Given the description of an element on the screen output the (x, y) to click on. 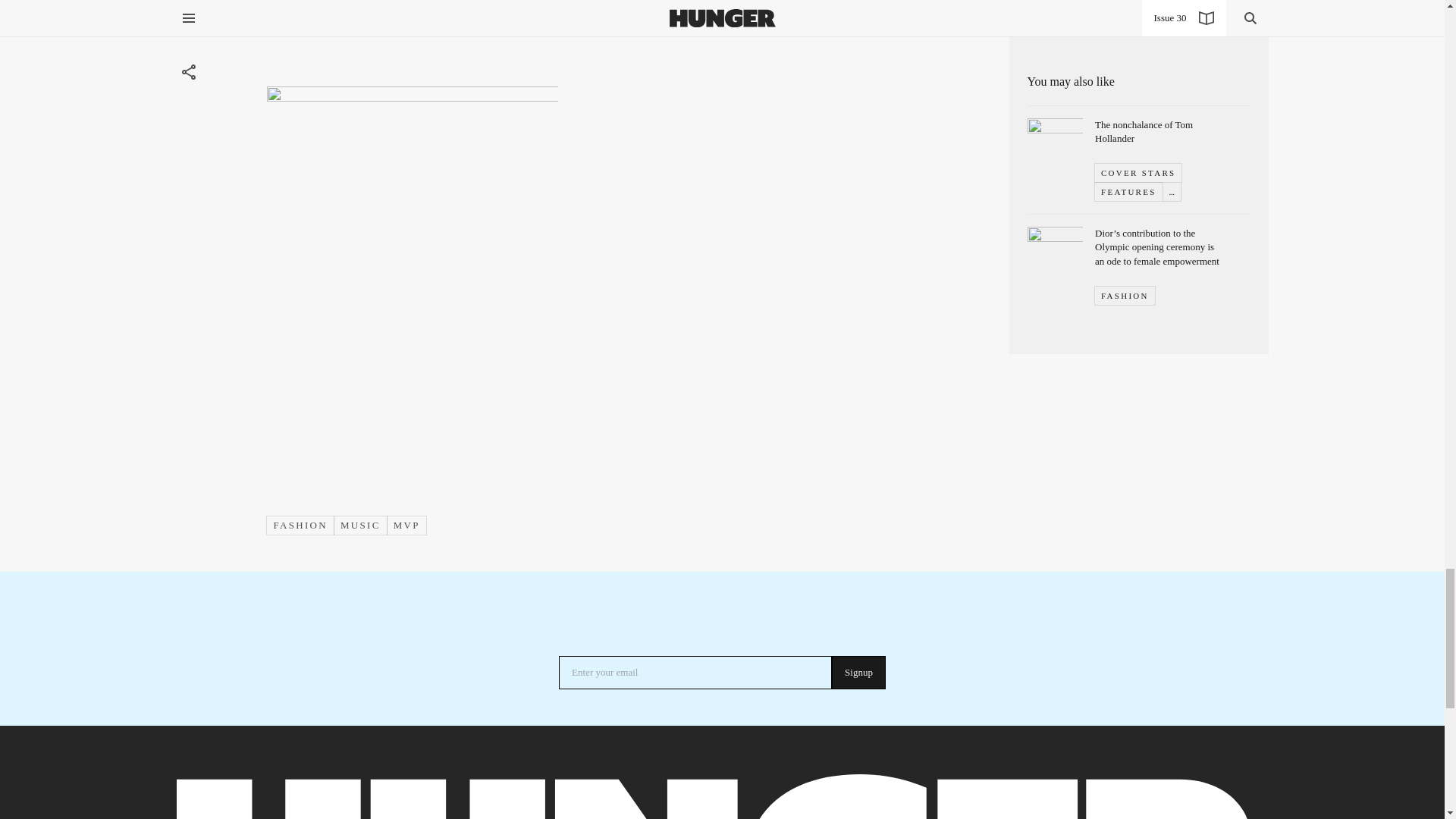
MVP (406, 524)
MUSIC (360, 524)
FASHION (300, 524)
Signup (858, 672)
